Given the description of an element on the screen output the (x, y) to click on. 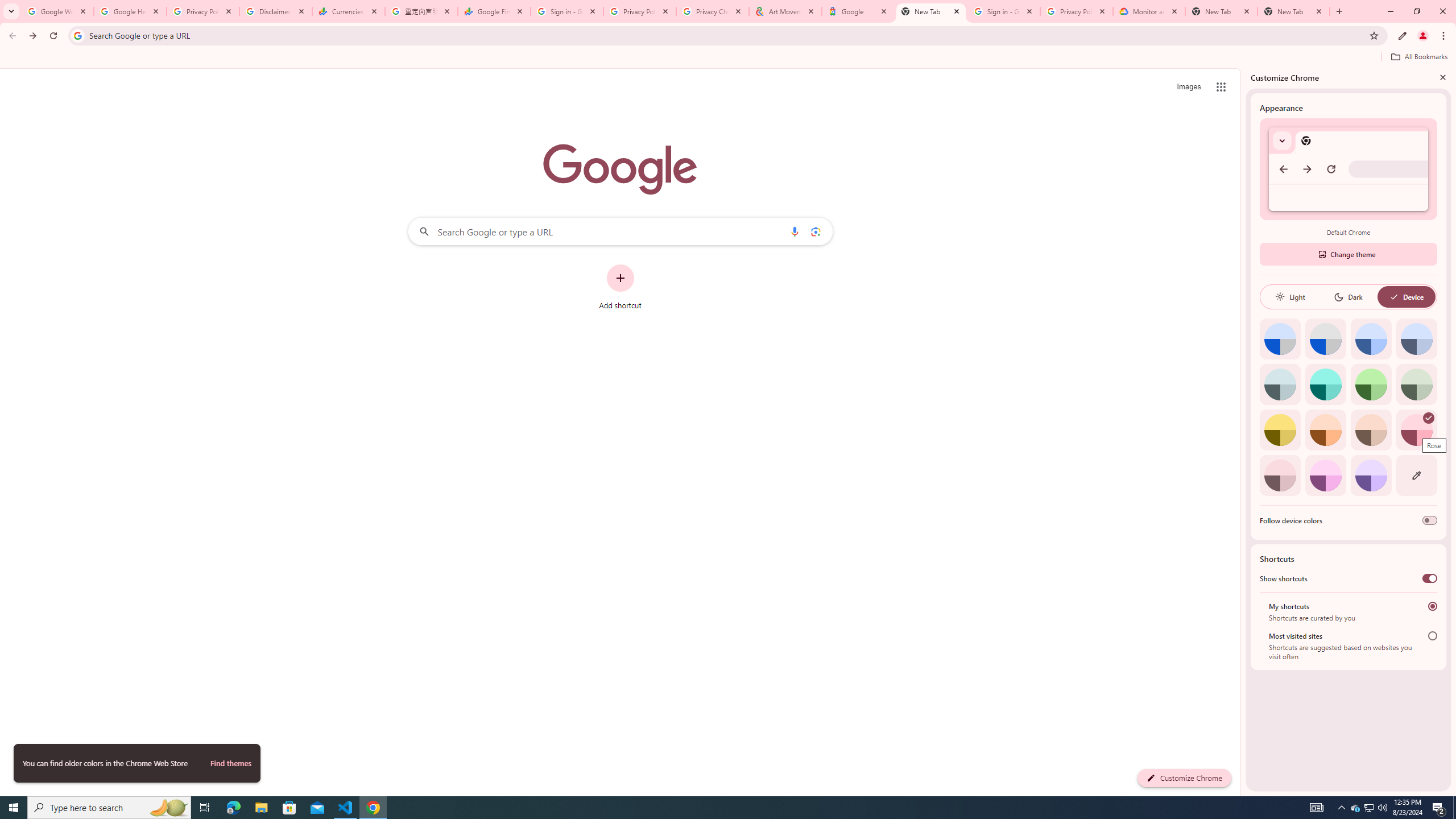
Sign in - Google Accounts (566, 11)
Change theme (1348, 254)
Bookmarks (728, 58)
Follow device colors (1429, 519)
AutomationID: baseSvg (1394, 296)
My shortcuts (1432, 605)
Add shortcut (620, 287)
Green (1371, 383)
Dark (1348, 296)
Cool grey (1416, 338)
